Given the description of an element on the screen output the (x, y) to click on. 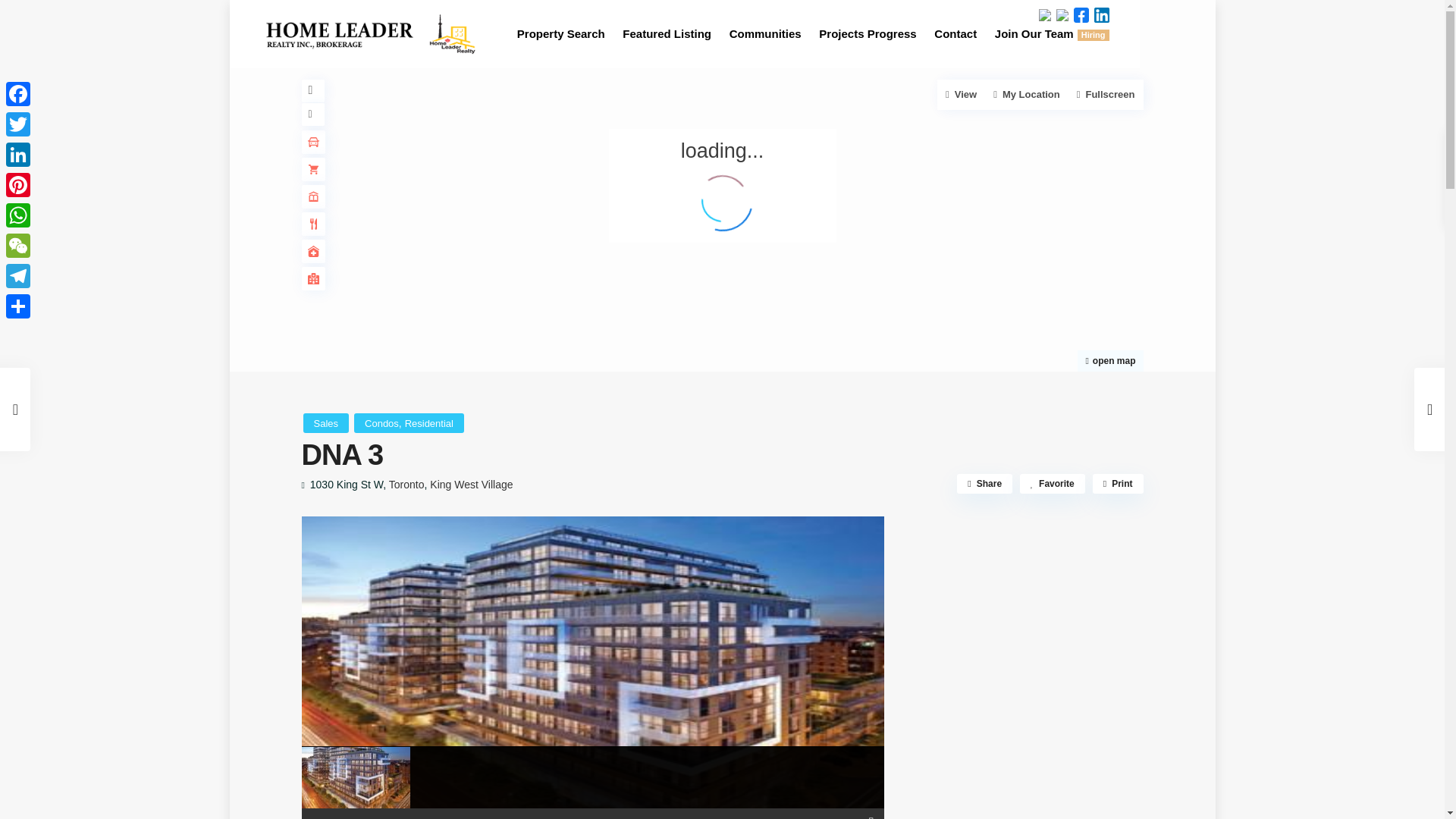
WhatsApp (17, 214)
WeChat (17, 245)
Facebook (17, 93)
LinkedIn (17, 154)
Twitter (17, 123)
Featured Listing (666, 33)
Telegram (17, 276)
Pinterest (17, 184)
Communities (765, 33)
Property Search (560, 33)
